Given the description of an element on the screen output the (x, y) to click on. 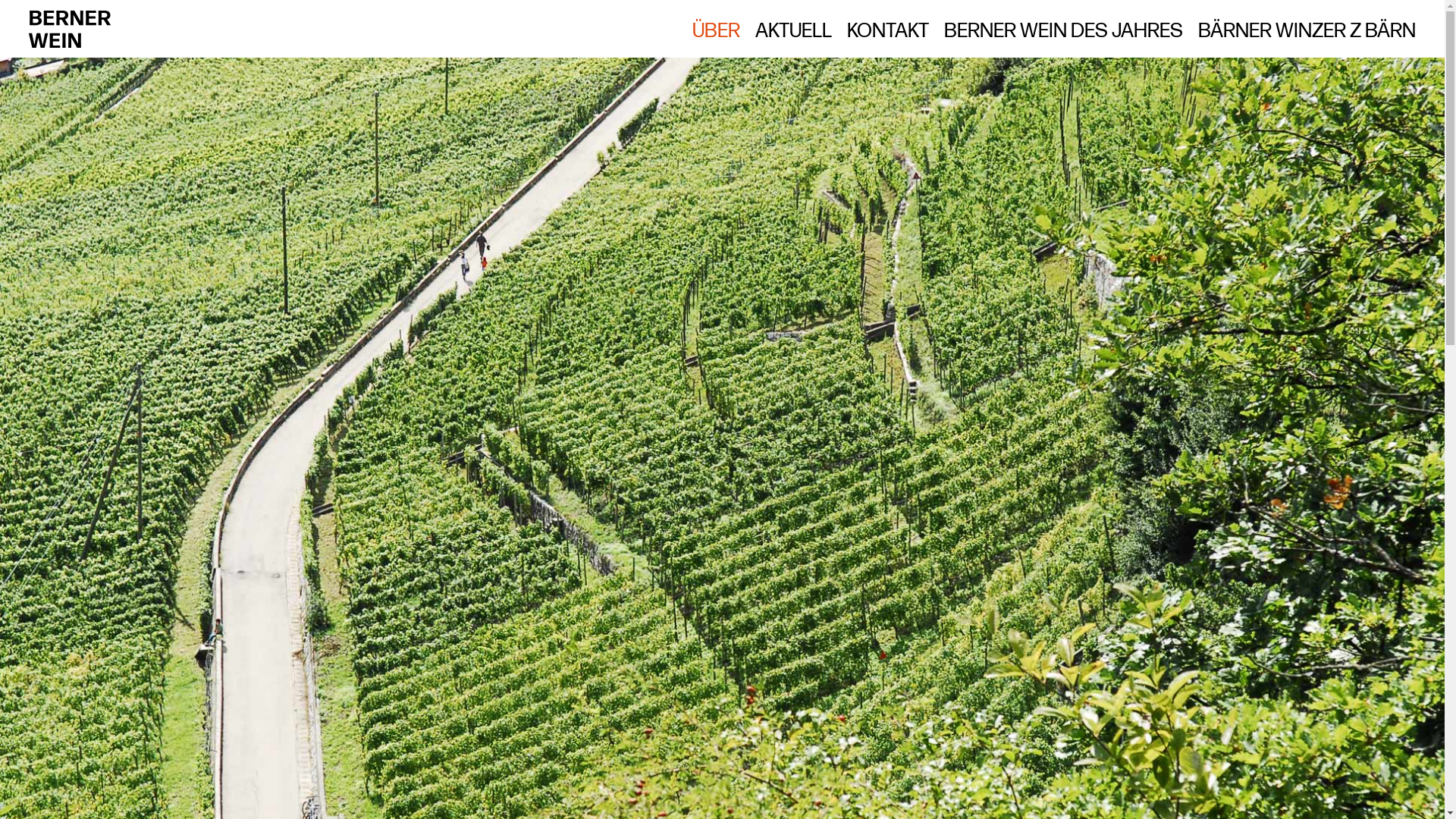
BERNER WEIN DES JAHRES Element type: text (1063, 30)
KONTAKT Element type: text (887, 30)
AKTUELL Element type: text (793, 30)
